Given the description of an element on the screen output the (x, y) to click on. 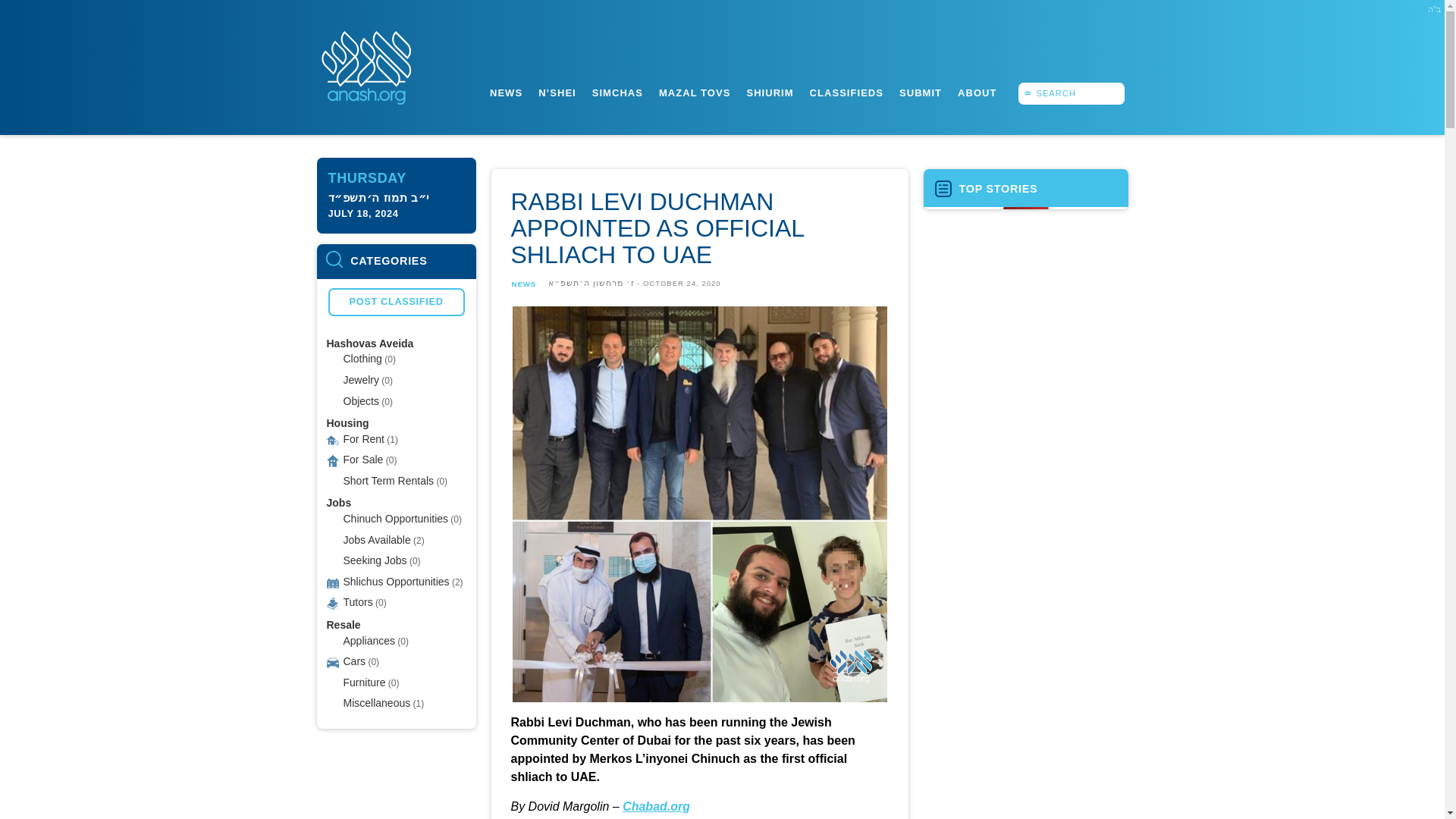
Clothing (361, 358)
SUBMIT (919, 93)
CLASSIFIEDS (846, 93)
SIMCHAS (617, 93)
Jewelry (360, 379)
Seeking Jobs (374, 560)
MAZAL TOVS (694, 93)
Tutors (357, 601)
CATEGORIES (396, 261)
Shlichus Opportunities (395, 581)
Hashovas Aveida (369, 343)
ABOUT (976, 93)
Resale (342, 624)
POST CLASSIFIED (395, 302)
NEWS (505, 93)
